Given the description of an element on the screen output the (x, y) to click on. 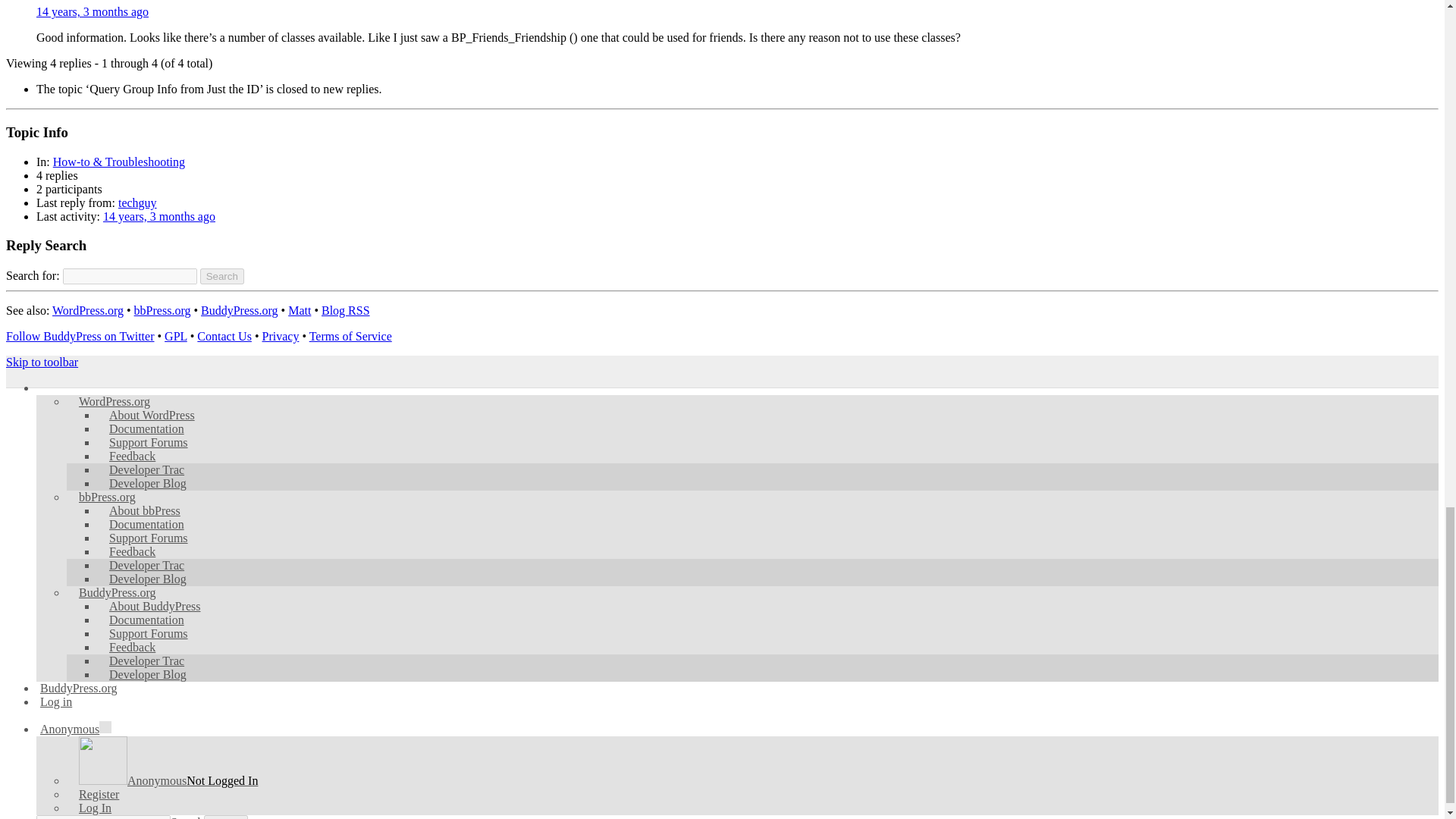
Blog RSS (345, 309)
bbPress.org (161, 309)
Privacy (280, 336)
Search (222, 276)
Search (222, 276)
techguy (137, 202)
Follow BuddyPress on Twitter (79, 336)
BuddyPress.org (239, 309)
Contact Us (223, 336)
14 years, 3 months ago (159, 215)
14 years, 3 months ago (92, 11)
Matt (299, 309)
Skip to toolbar (41, 361)
WordPress.org (87, 309)
GPL (175, 336)
